Given the description of an element on the screen output the (x, y) to click on. 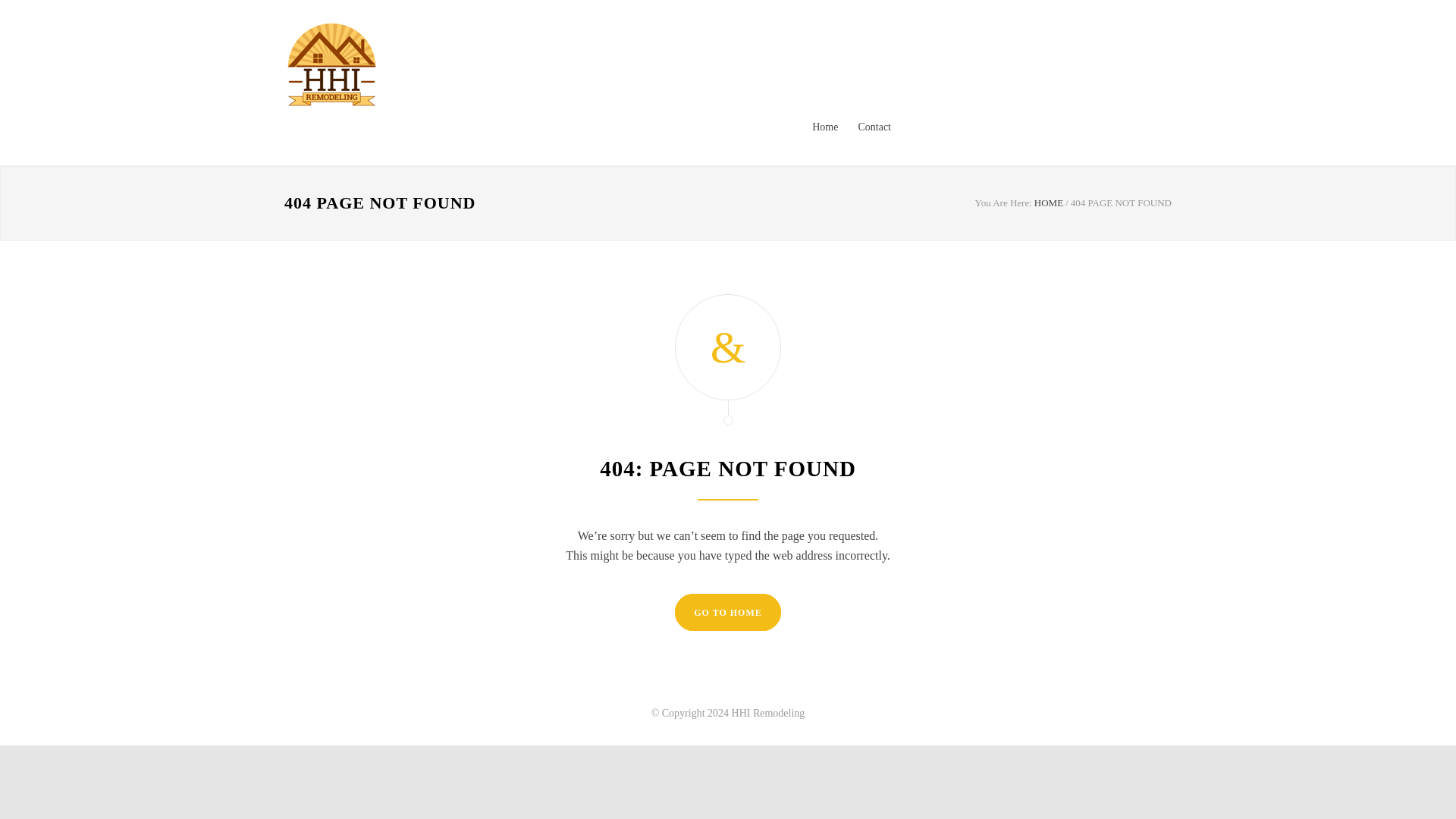
GO TO HOME (727, 611)
GO TO HOME (727, 611)
Heckendorn Home Improvements (423, 63)
HOME (1047, 202)
Home (1047, 202)
Contact (864, 126)
